Given the description of an element on the screen output the (x, y) to click on. 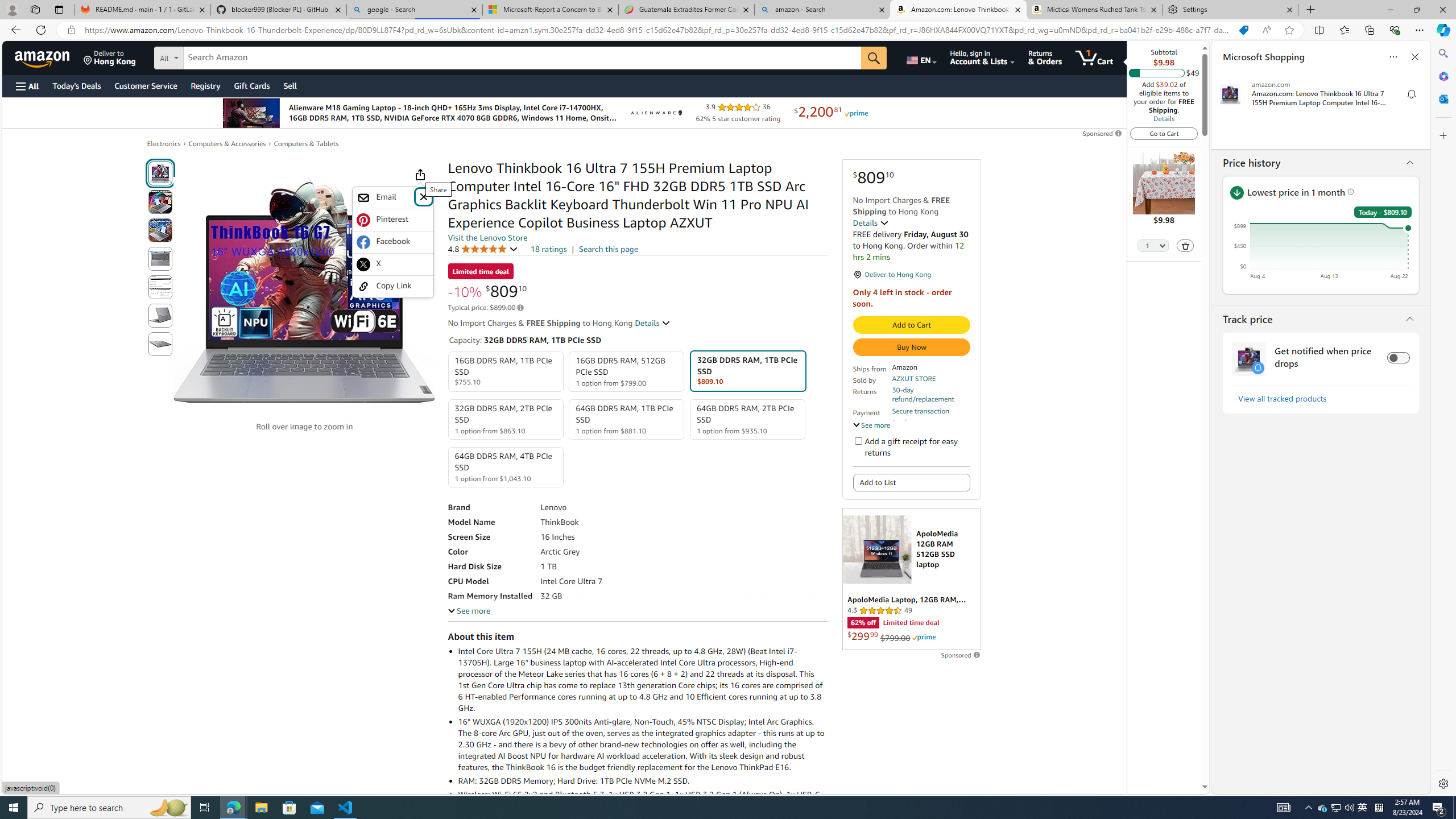
Email (384, 197)
Add to List (911, 482)
Sponsored ad (911, 578)
Facebook (392, 241)
Details  (652, 322)
Returns & Orders (1045, 57)
64GB DDR5 RAM, 2TB PCIe SSD 1 option from $935.10 (747, 418)
Add to Cart (911, 324)
X (392, 264)
Logo (655, 112)
Electronics (163, 143)
